Given the description of an element on the screen output the (x, y) to click on. 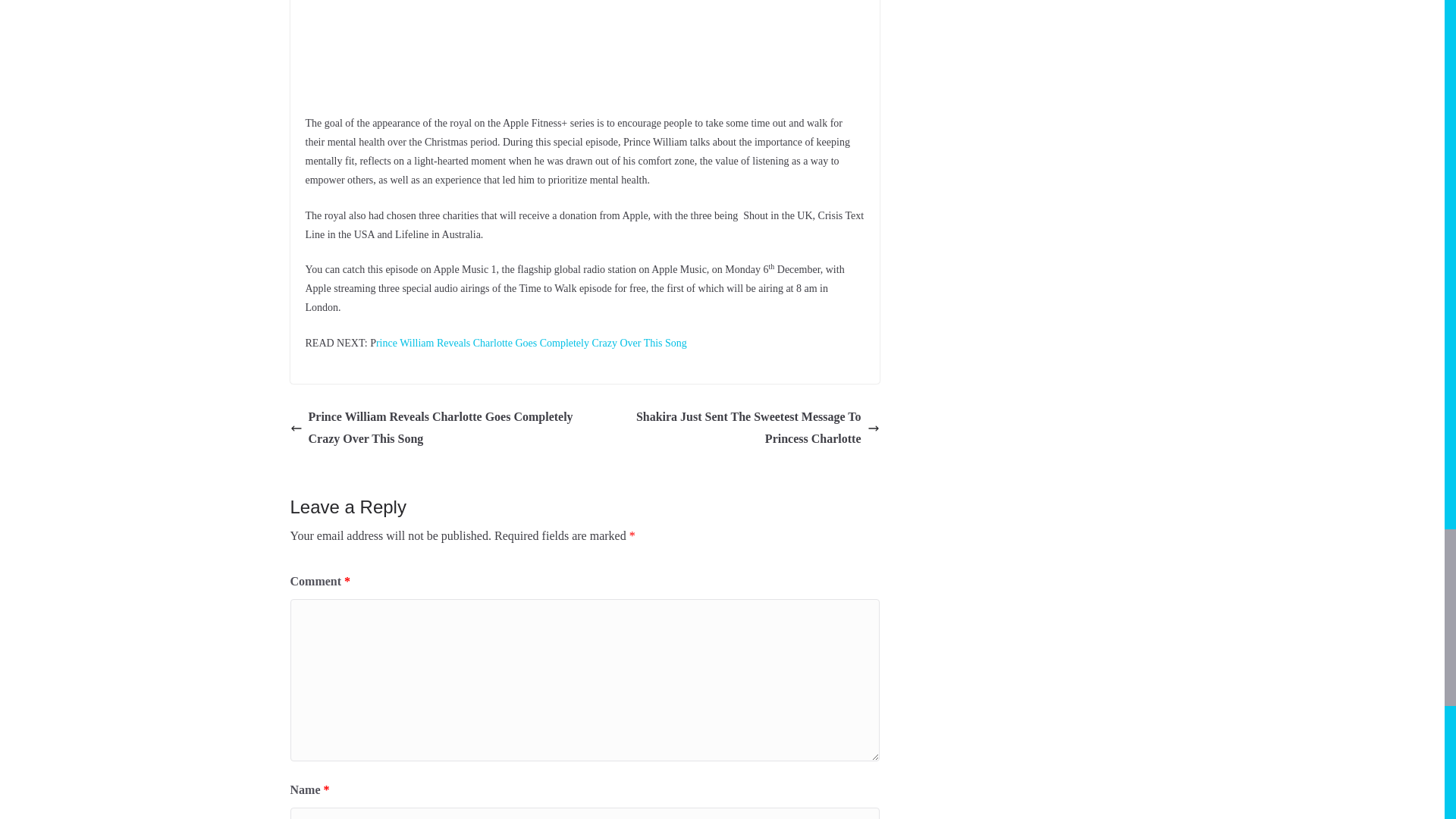
Shakira Just Sent The Sweetest Message To Princess Charlotte (735, 428)
